Given the description of an element on the screen output the (x, y) to click on. 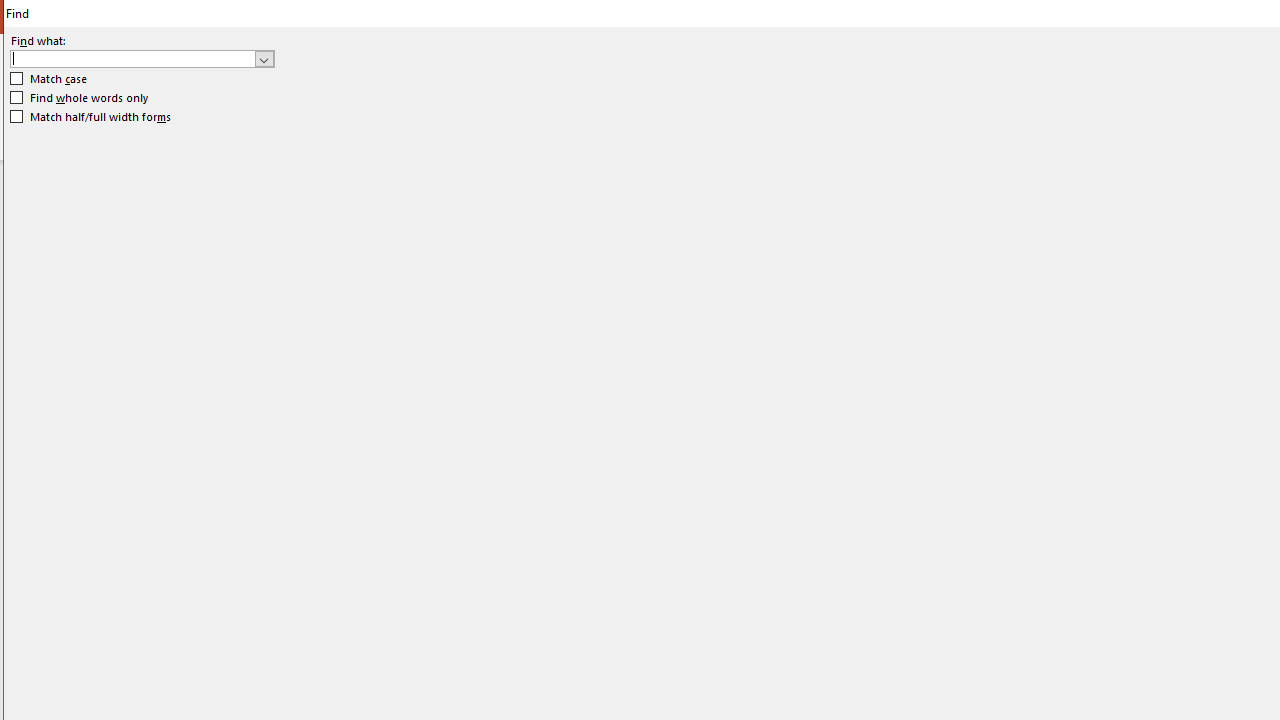
Match case (49, 79)
Find what (132, 58)
Find what (142, 58)
Find whole words only (79, 97)
Match half/full width forms (91, 116)
